Given the description of an element on the screen output the (x, y) to click on. 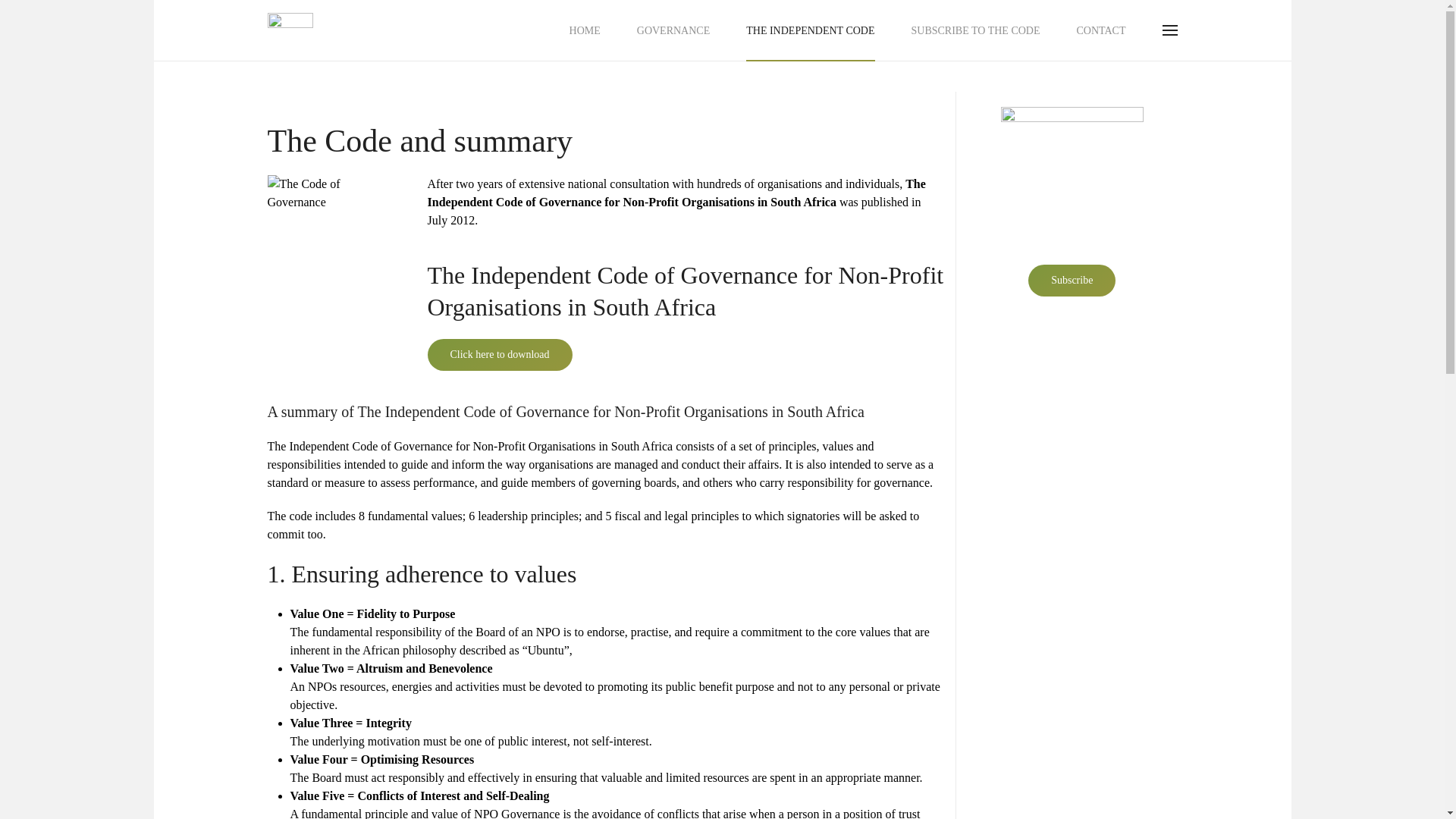
SUBSCRIBE TO THE CODE (976, 30)
THE INDEPENDENT CODE (810, 30)
GOVERNANCE (673, 30)
